Given the description of an element on the screen output the (x, y) to click on. 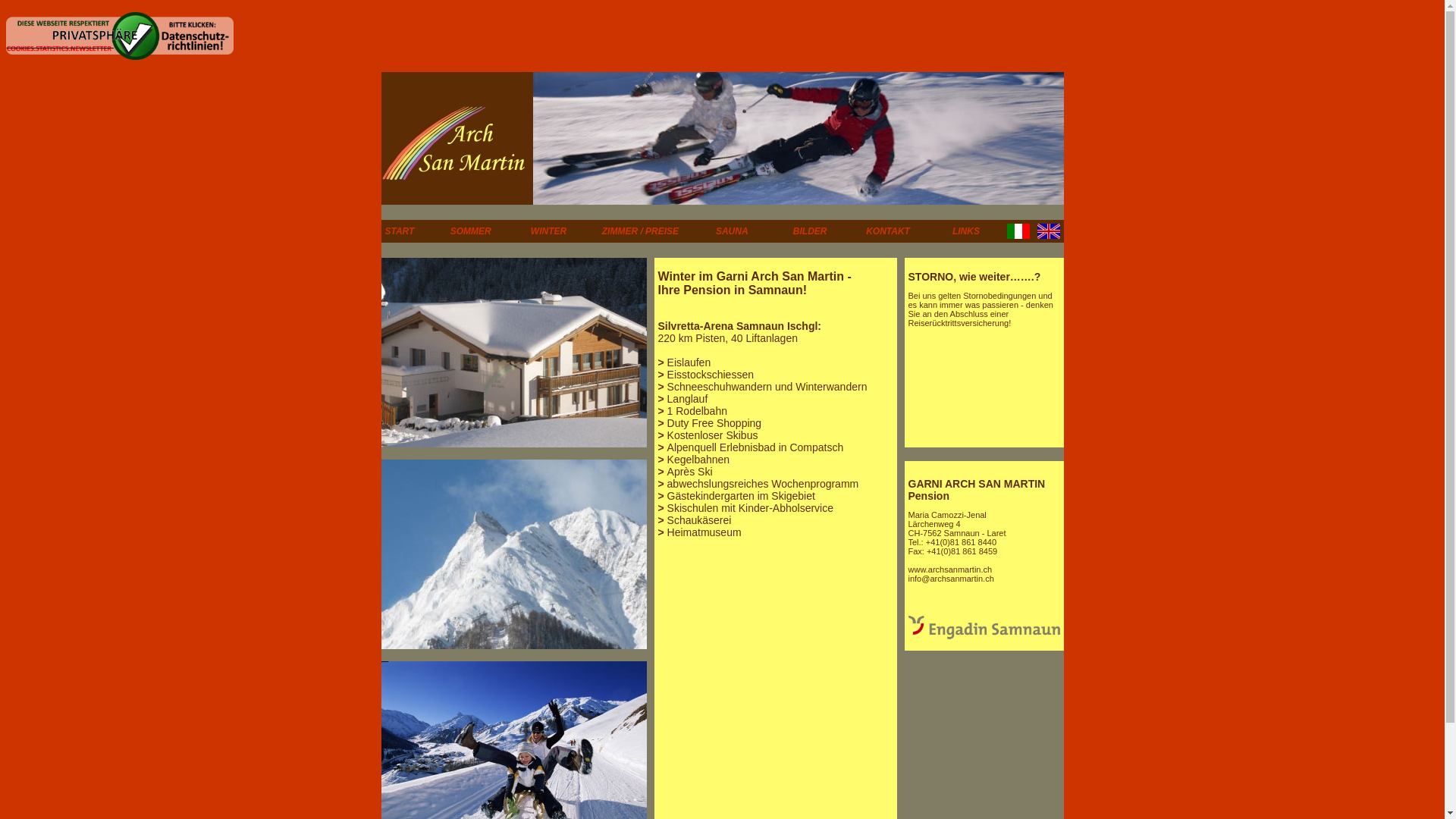
SOMMER Element type: text (470, 230)
LINKS Element type: text (965, 230)
BILDER Element type: text (810, 230)
SAUNA Element type: text (731, 230)
Camere con prima colazione a Samnaun! Element type: hover (1018, 235)
ZIMMER / PREISE Element type: text (640, 230)
Bed and breakfast inn in Samnaun! Element type: hover (1048, 235)
START Element type: text (399, 230)
WINTER Element type: text (548, 230)
KONTAKT Element type: text (888, 230)
